Given the description of an element on the screen output the (x, y) to click on. 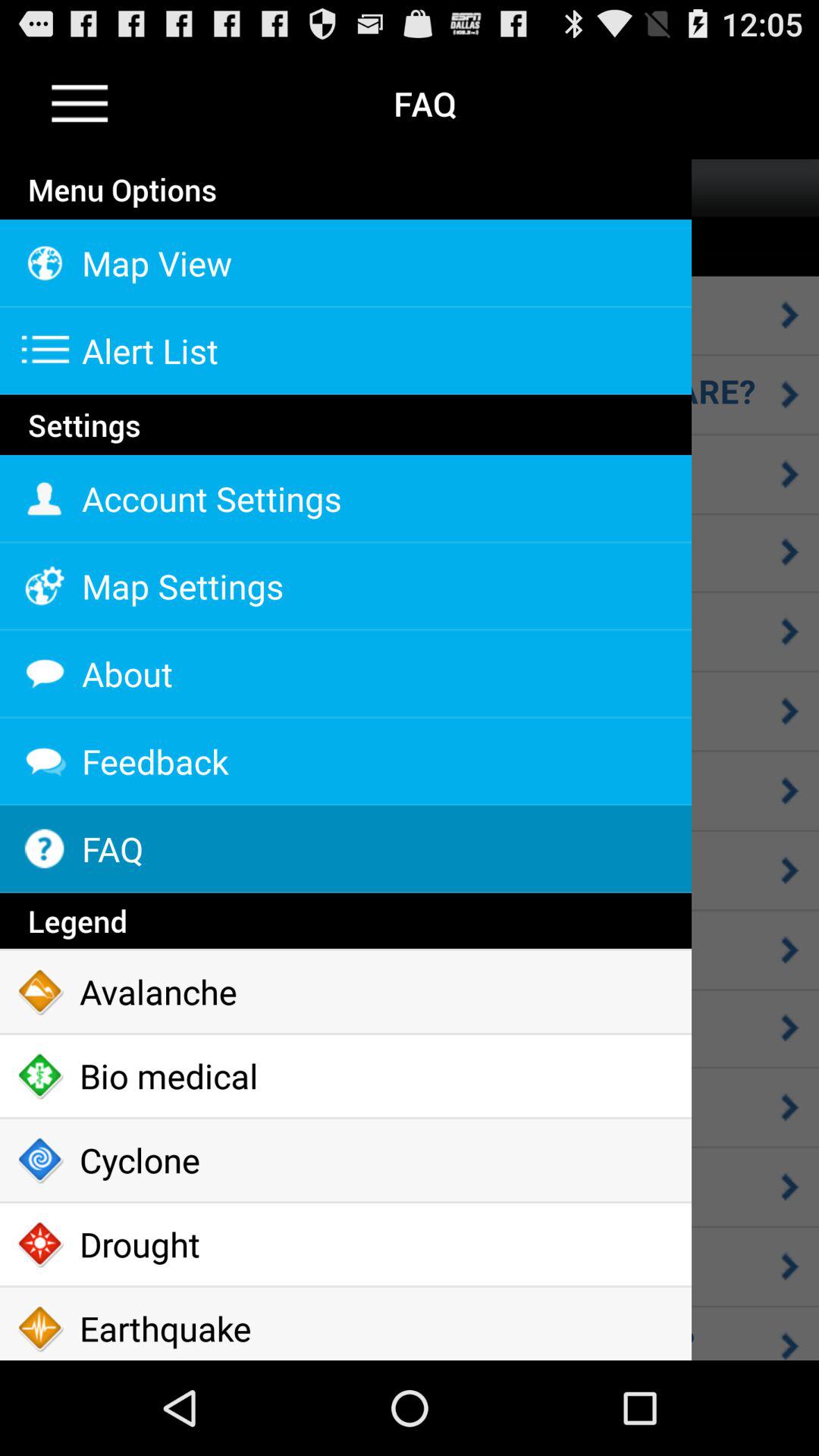
jump to alert list (345, 350)
